Given the description of an element on the screen output the (x, y) to click on. 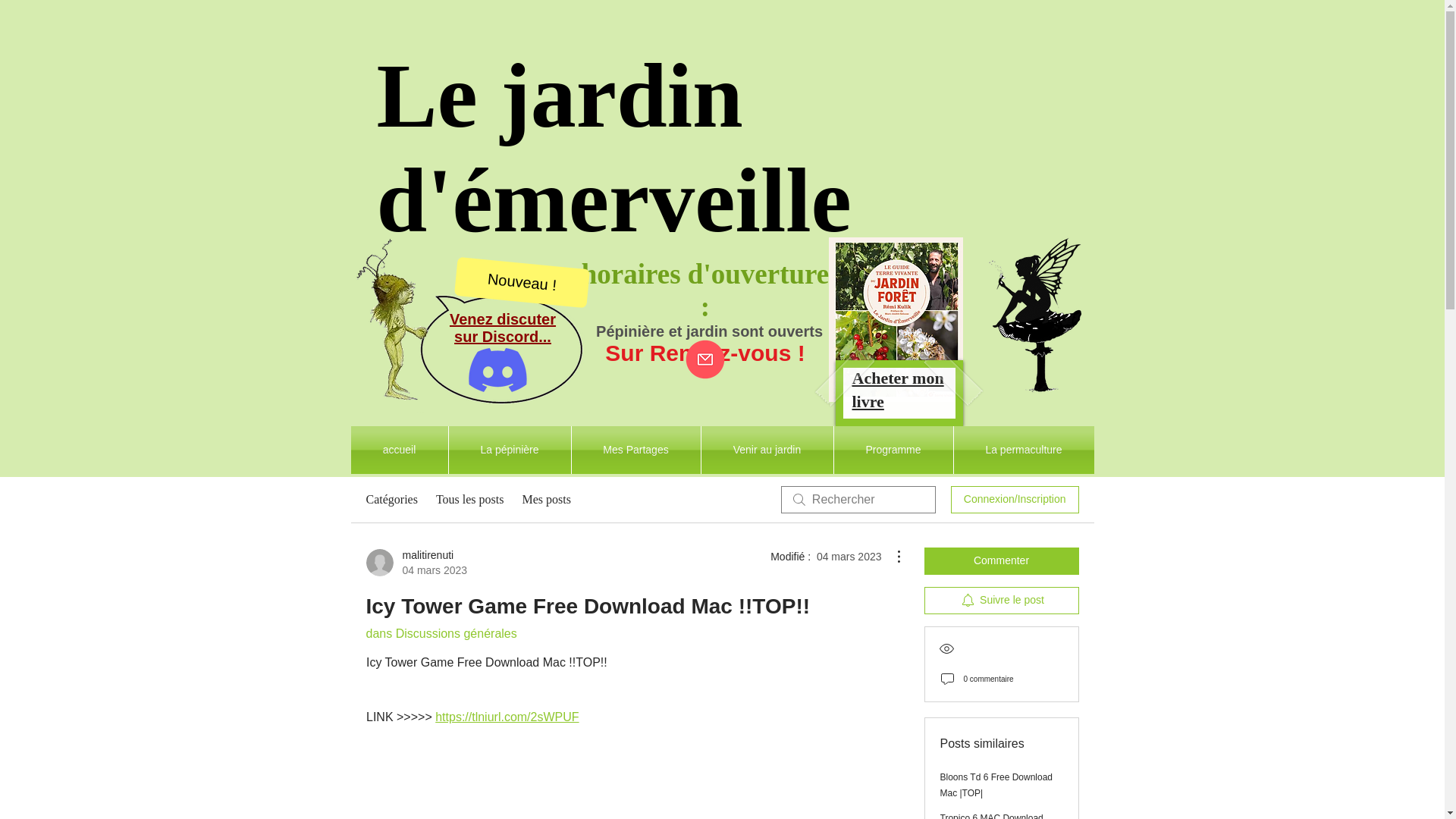
Nouveau ! (519, 276)
Acheter mon livre (897, 389)
Venez discuter sur Discord... (502, 327)
Venir au jardin (766, 449)
Mes Partages (636, 449)
Mes posts (545, 499)
accueil (398, 449)
Programme (893, 449)
La permaculture (416, 562)
